Given the description of an element on the screen output the (x, y) to click on. 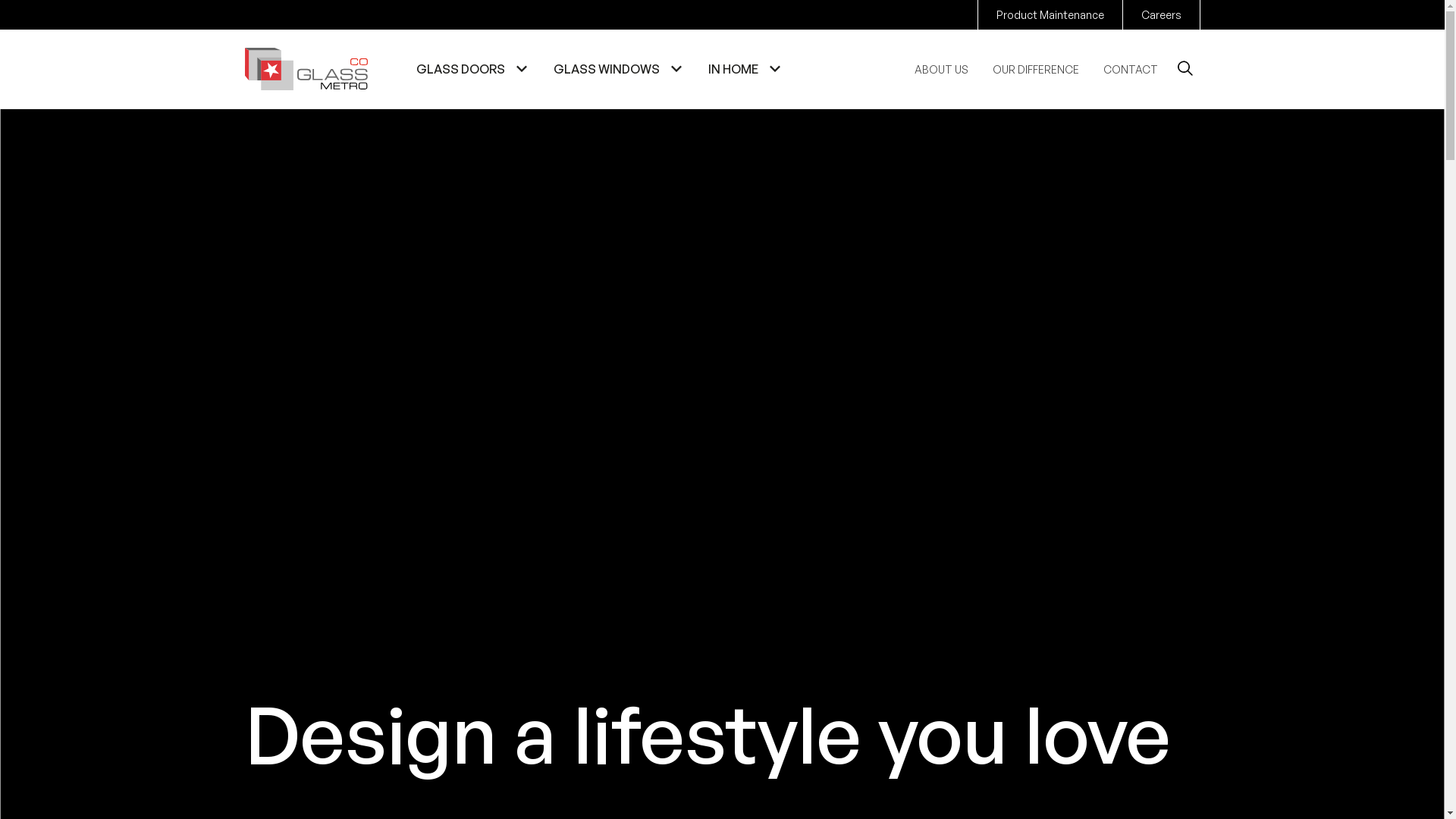
Careers Element type: text (1160, 14)
ABOUT US Element type: text (941, 68)
GLASS WINDOWS Element type: text (615, 68)
GLASS DOORS Element type: text (468, 68)
IN HOME Element type: text (742, 68)
OUR DIFFERENCE Element type: text (1034, 68)
CONTACT Element type: text (1129, 68)
Product Maintenance Element type: text (1050, 14)
